Given the description of an element on the screen output the (x, y) to click on. 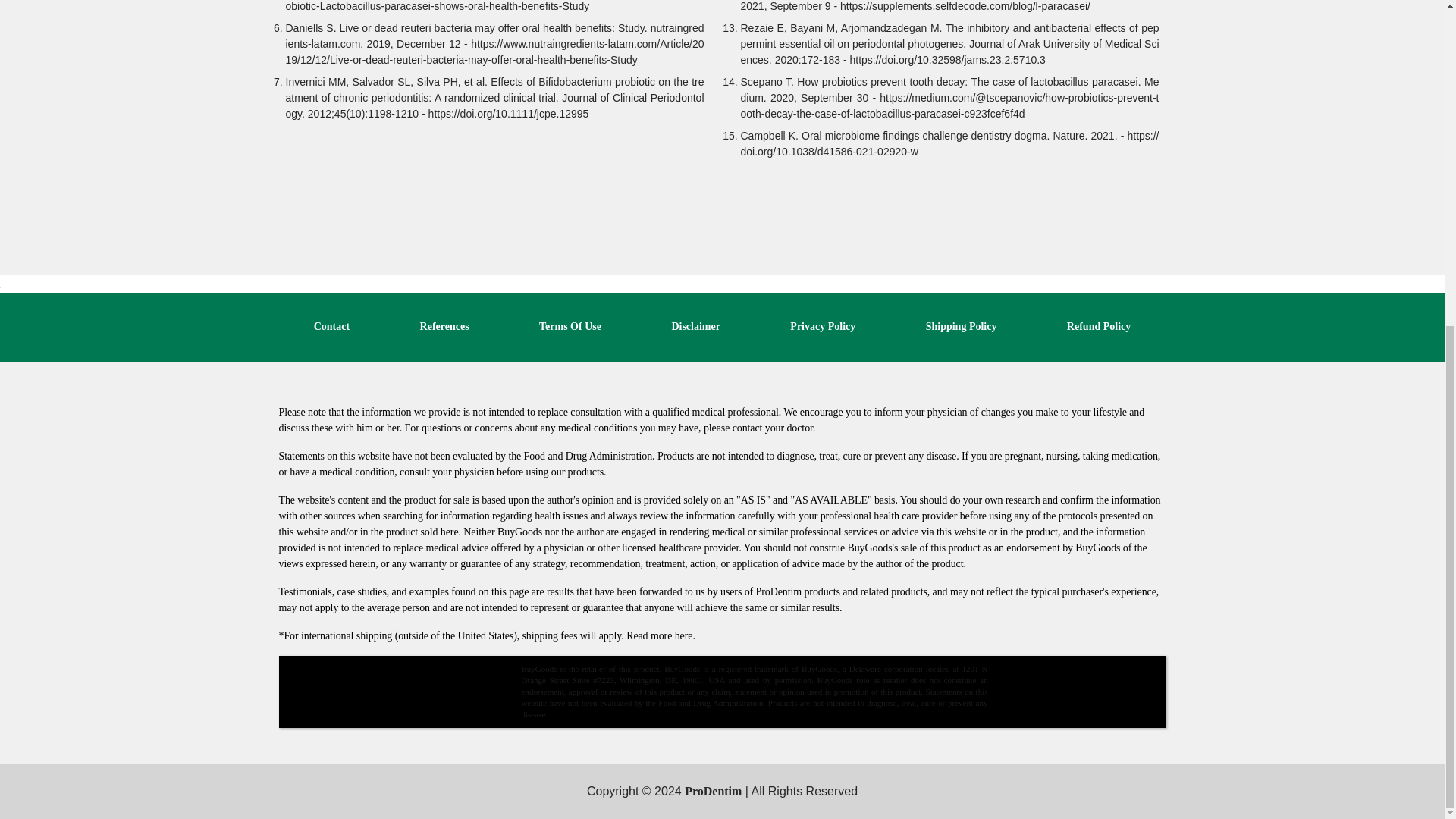
Read more here (659, 635)
Privacy Policy (823, 326)
Terms Of Use (569, 326)
Refund Policy (1099, 326)
Disclaimer (695, 326)
Contact (331, 326)
Shipping Policy (961, 326)
References (444, 326)
